Given the description of an element on the screen output the (x, y) to click on. 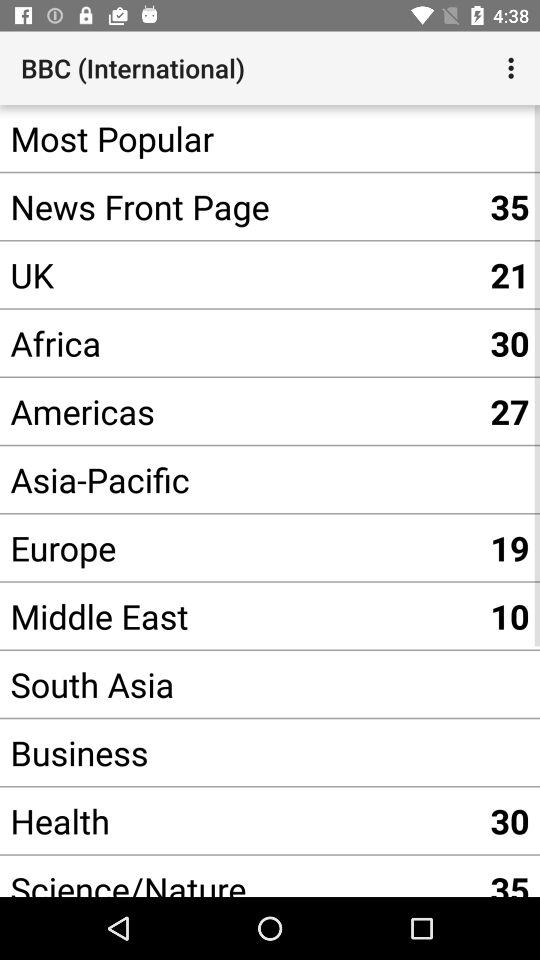
choose the icon below 19 icon (510, 615)
